Given the description of an element on the screen output the (x, y) to click on. 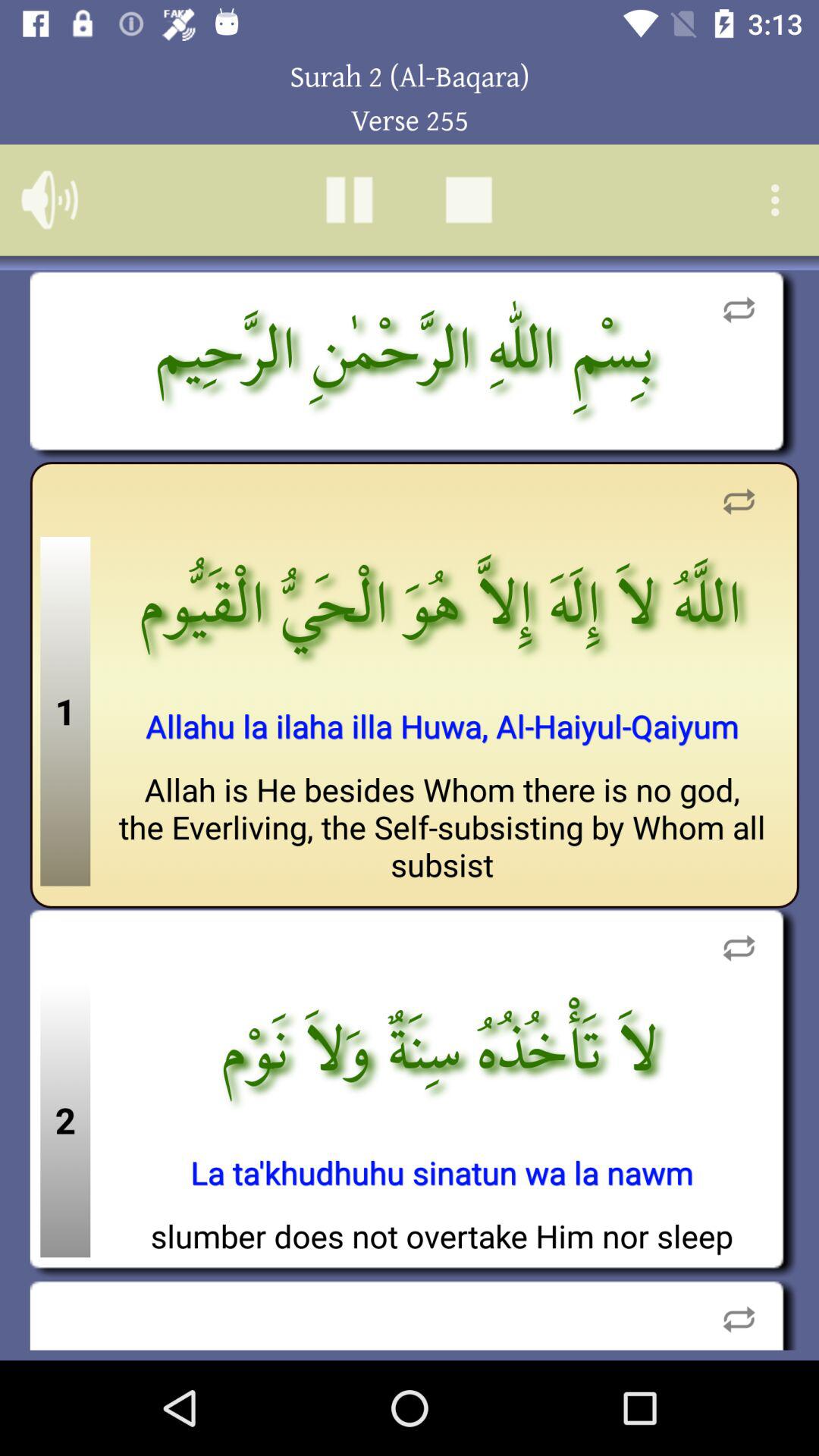
refresh (738, 947)
